Given the description of an element on the screen output the (x, y) to click on. 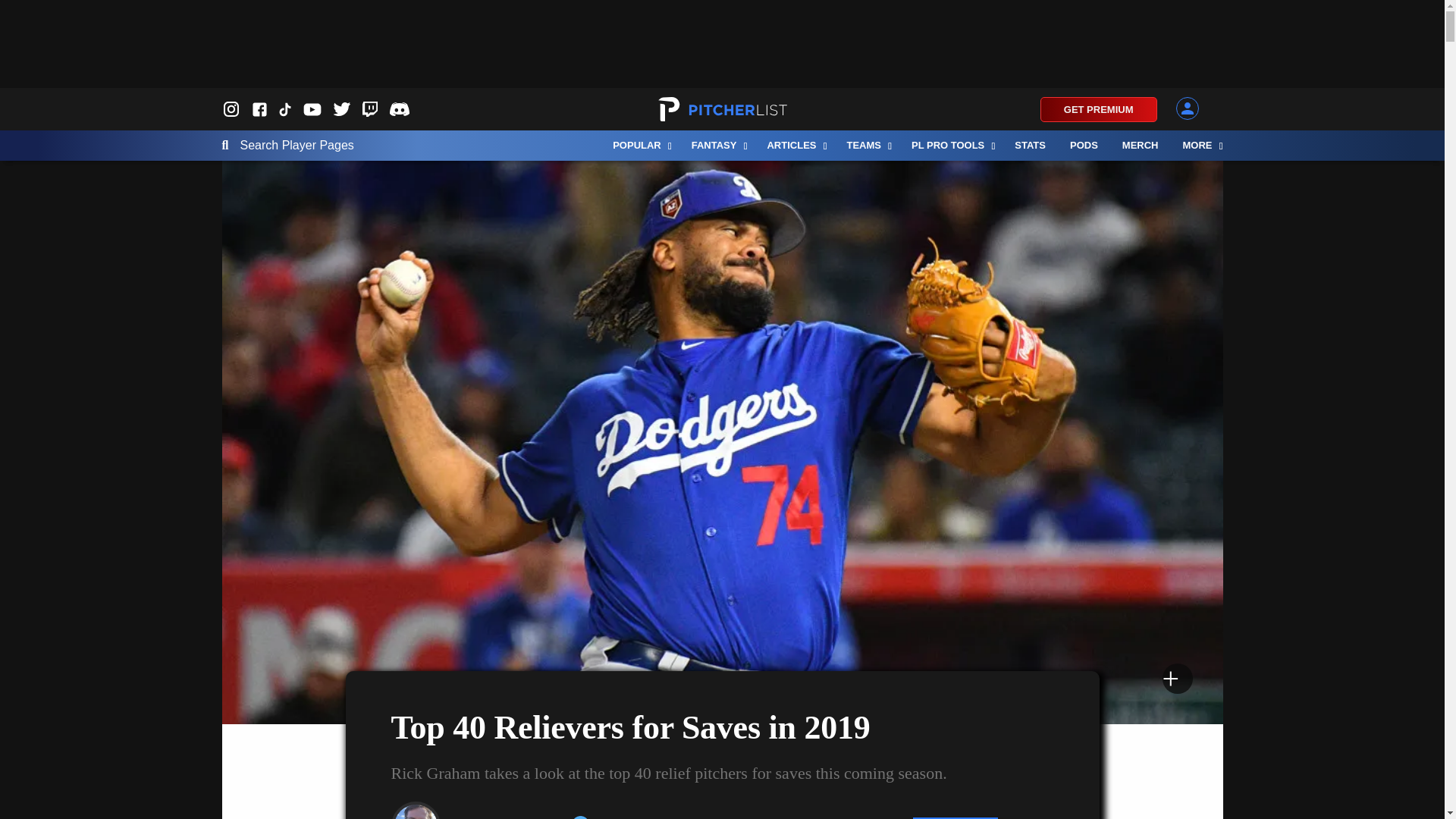
GET PREMIUM (1099, 109)
FANTASY (717, 145)
